Given the description of an element on the screen output the (x, y) to click on. 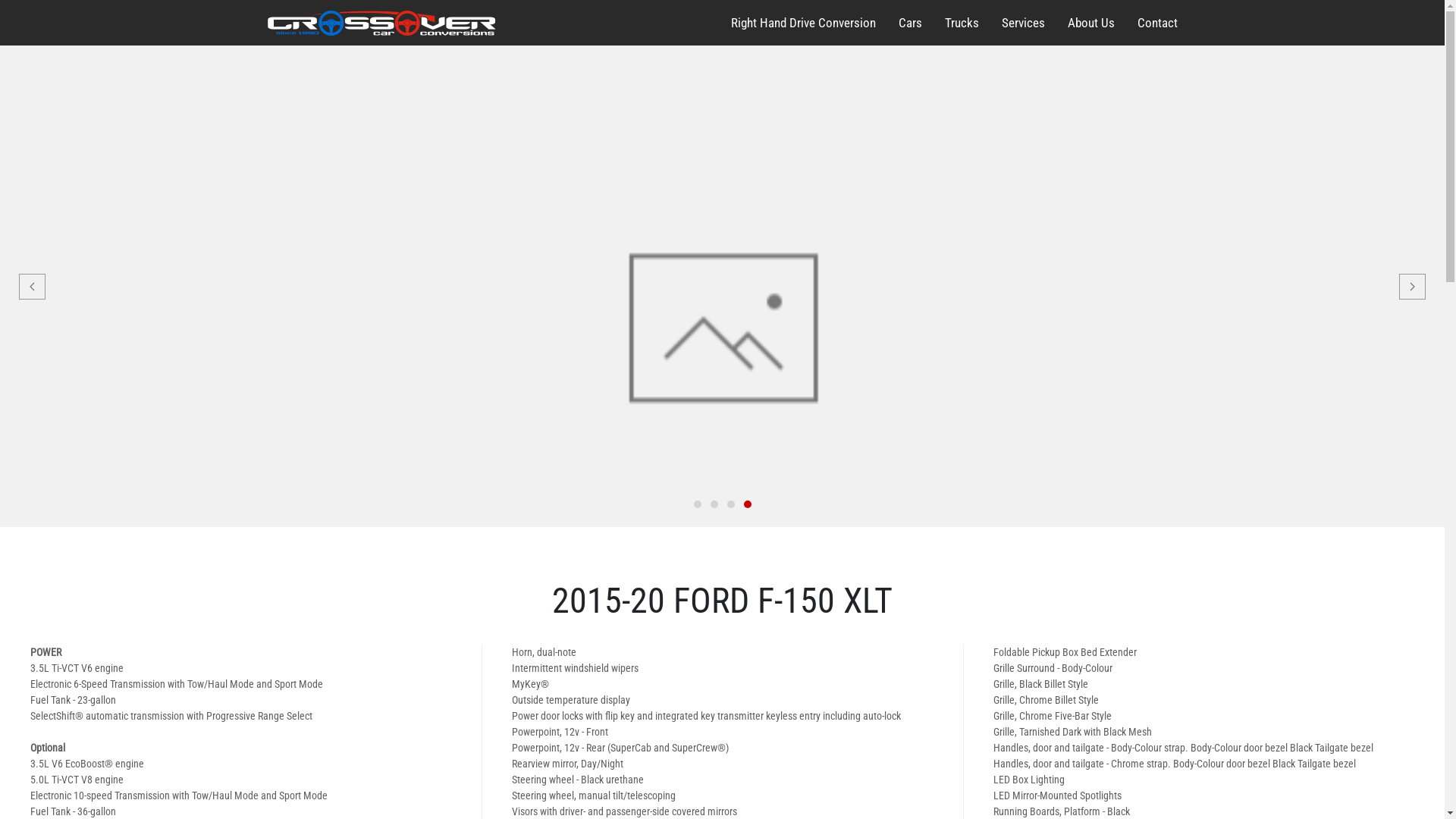
Cars Element type: text (909, 22)
Trucks Element type: text (961, 22)
Right Hand Drive Conversion Element type: text (803, 22)
Contact Element type: text (1157, 22)
Services Element type: text (1022, 22)
About Us Element type: text (1090, 22)
